Given the description of an element on the screen output the (x, y) to click on. 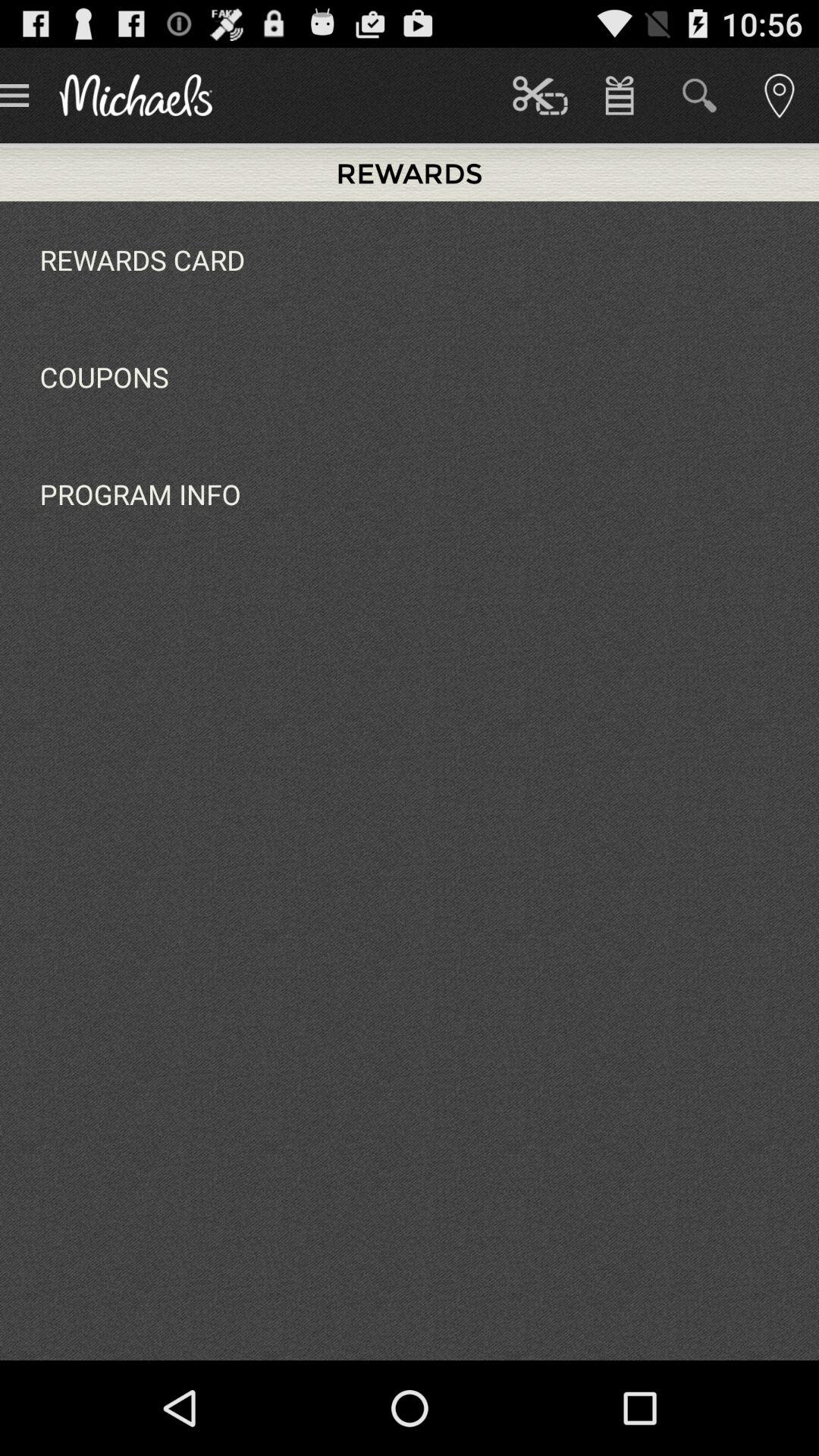
select the rewards card app (142, 259)
